Given the description of an element on the screen output the (x, y) to click on. 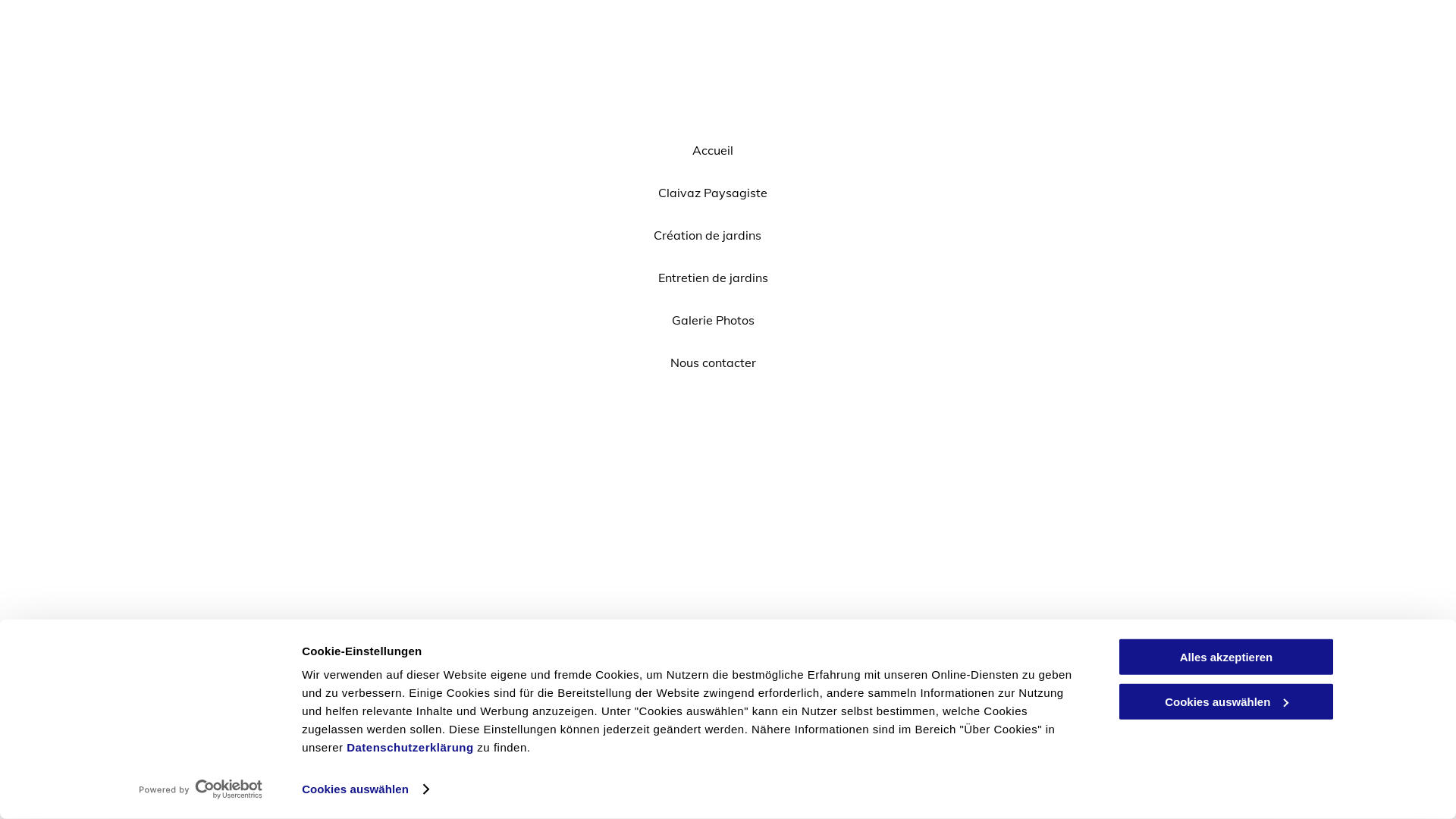
Entretien de jardins Element type: text (712, 277)
Accueil Element type: text (712, 149)
Galerie Photos Element type: text (712, 319)
Alles akzeptieren Element type: text (1225, 656)
Nous contacter Element type: text (712, 362)
Claivaz Paysagiste Element type: text (712, 192)
